Given the description of an element on the screen output the (x, y) to click on. 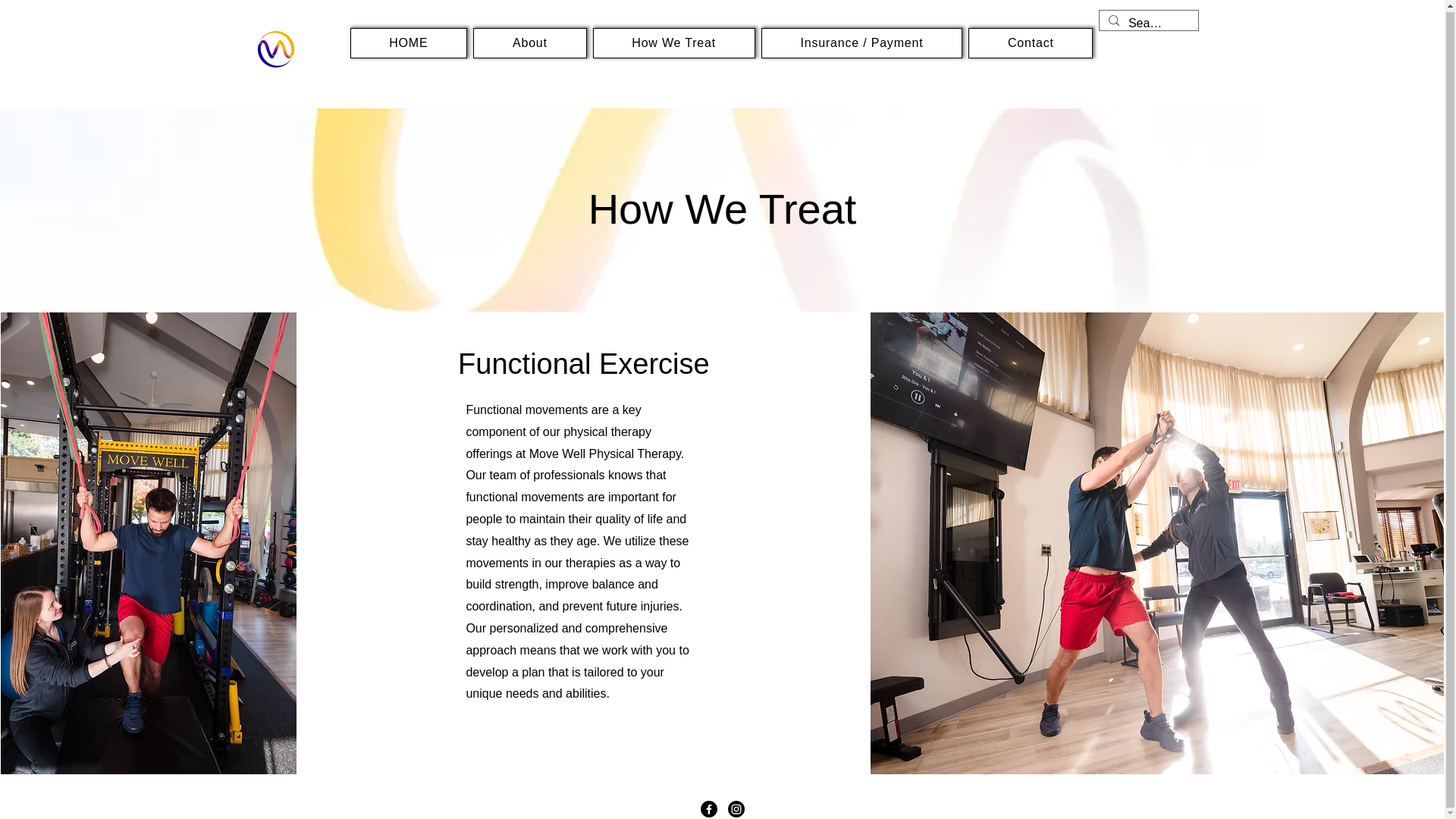
How We Treat (673, 42)
Contact (1030, 42)
About (529, 42)
HOME (408, 42)
